Given the description of an element on the screen output the (x, y) to click on. 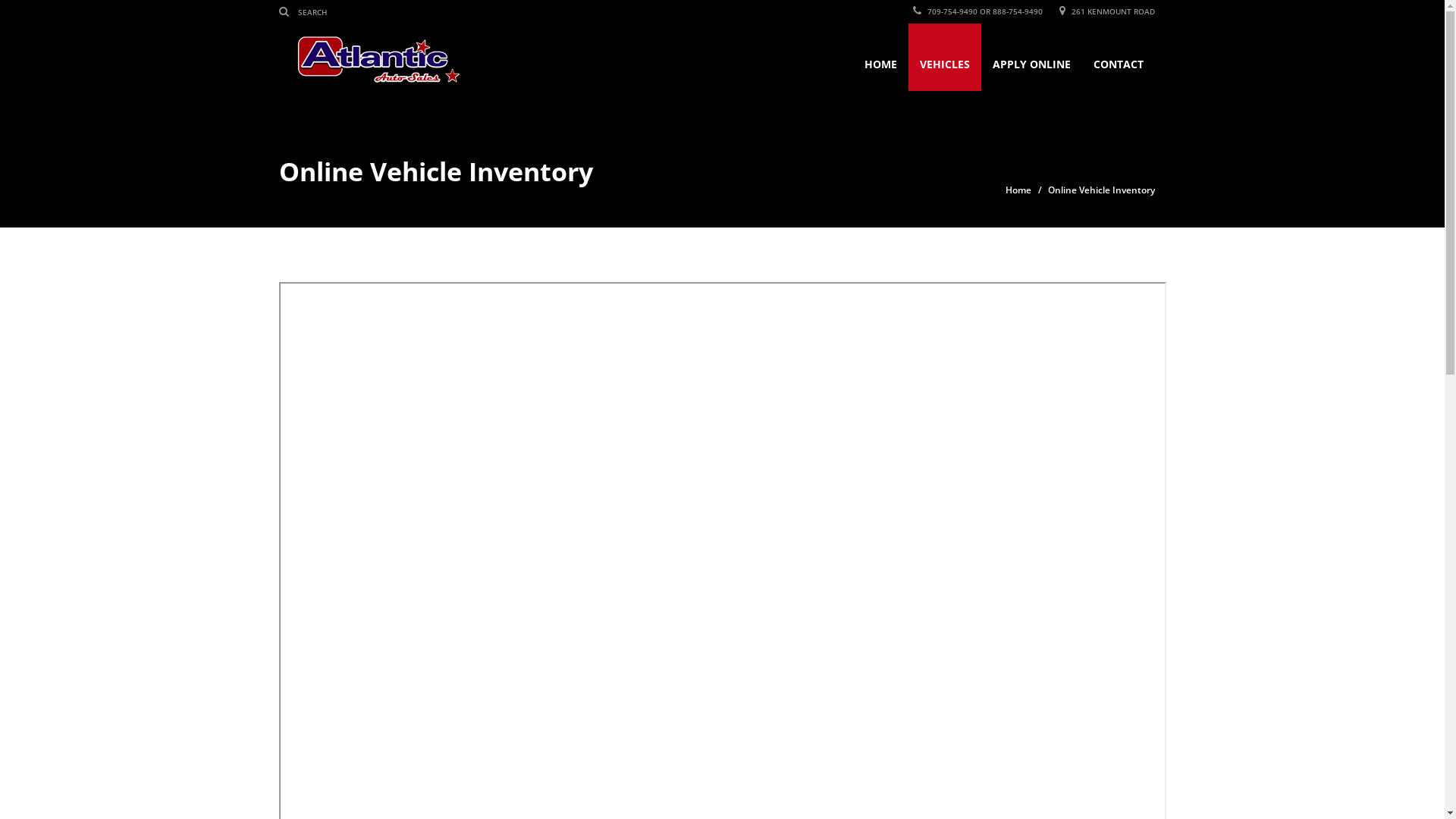
VEHICLES Element type: text (944, 57)
261 KENMOUNT ROAD Element type: text (1106, 11)
709-754-9490 OR 888-754-9490 Element type: text (977, 11)
CONTACT Element type: text (1117, 57)
HOME Element type: text (879, 57)
Home Element type: text (1018, 189)
APPLY ONLINE Element type: text (1031, 57)
